Given the description of an element on the screen output the (x, y) to click on. 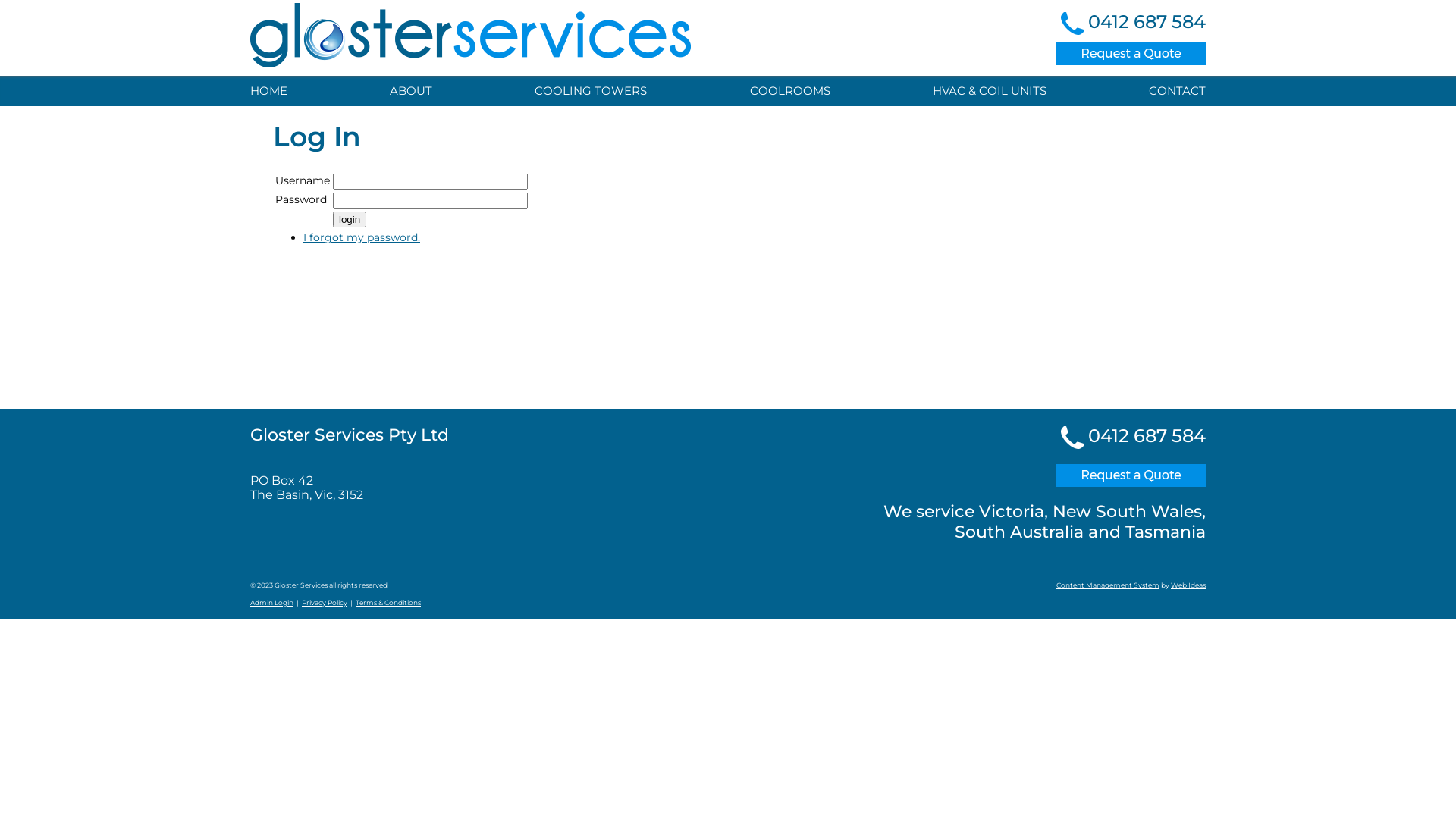
COOLROOMS Element type: text (789, 90)
HOME Element type: text (272, 90)
Content Management System Element type: text (1107, 584)
I forgot my password. Element type: text (361, 237)
Privacy Policy Element type: text (324, 602)
0412 687 584 Element type: text (1146, 21)
0412 687 584 Element type: text (1146, 435)
CONTACT Element type: text (1173, 90)
COOLING TOWERS Element type: text (590, 90)
ABOUT Element type: text (410, 90)
Admin Login Element type: text (271, 602)
HVAC & COIL UNITS Element type: text (989, 90)
Terms & Conditions Element type: text (387, 602)
login Element type: text (349, 219)
Web Ideas Element type: text (1187, 584)
